Given the description of an element on the screen output the (x, y) to click on. 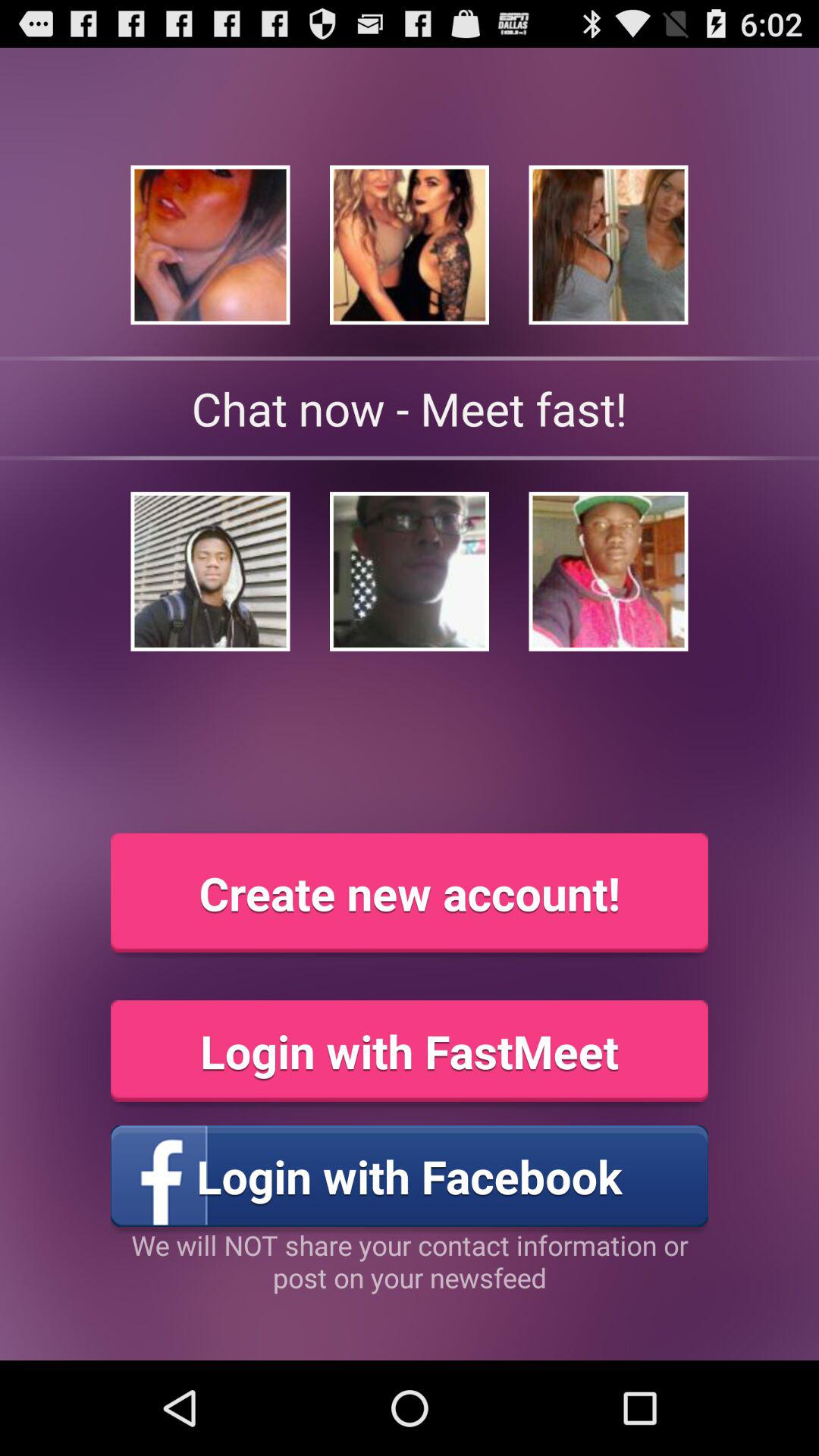
choose create new account! (409, 892)
